Given the description of an element on the screen output the (x, y) to click on. 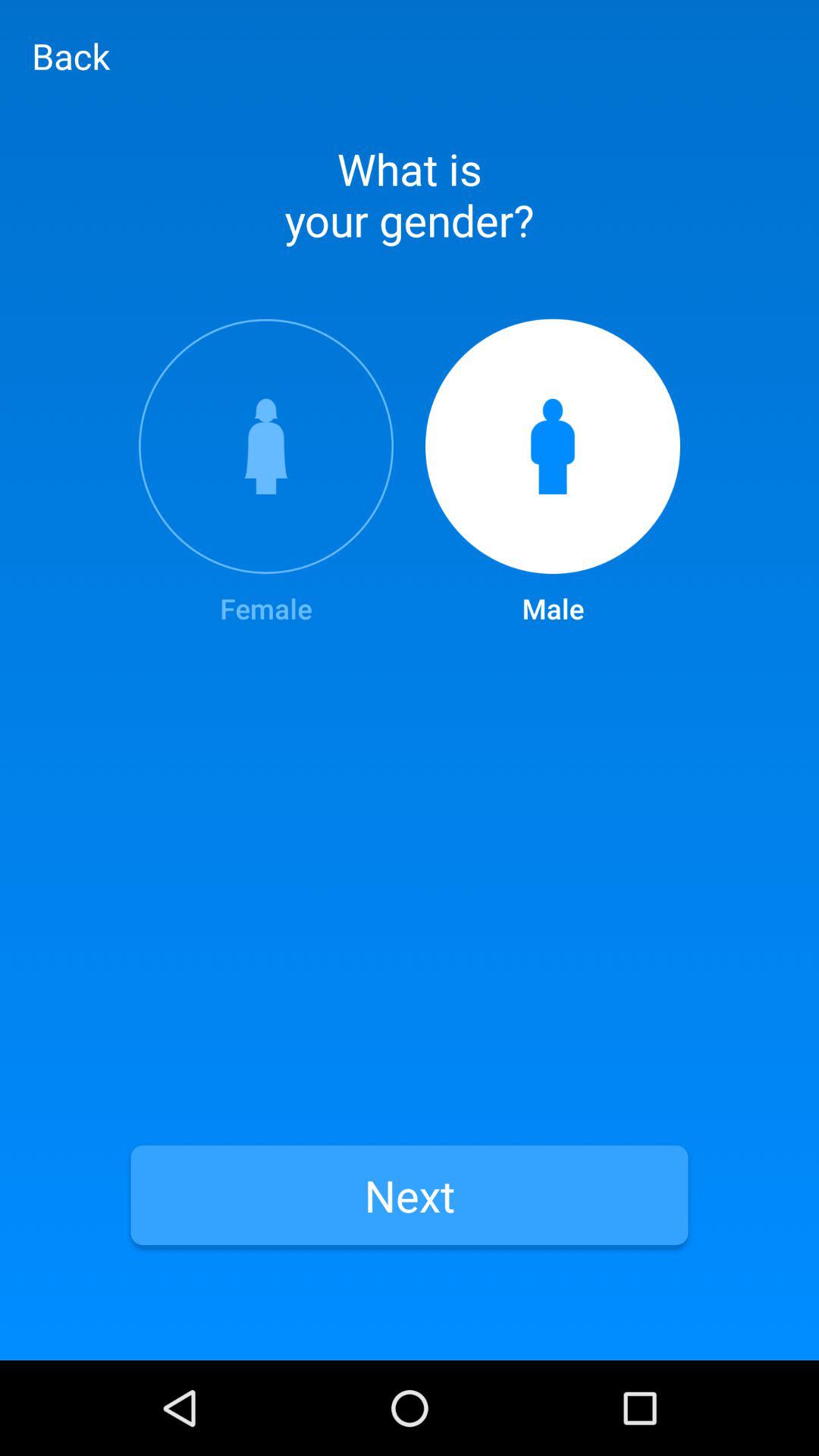
turn on female icon (265, 473)
